Given the description of an element on the screen output the (x, y) to click on. 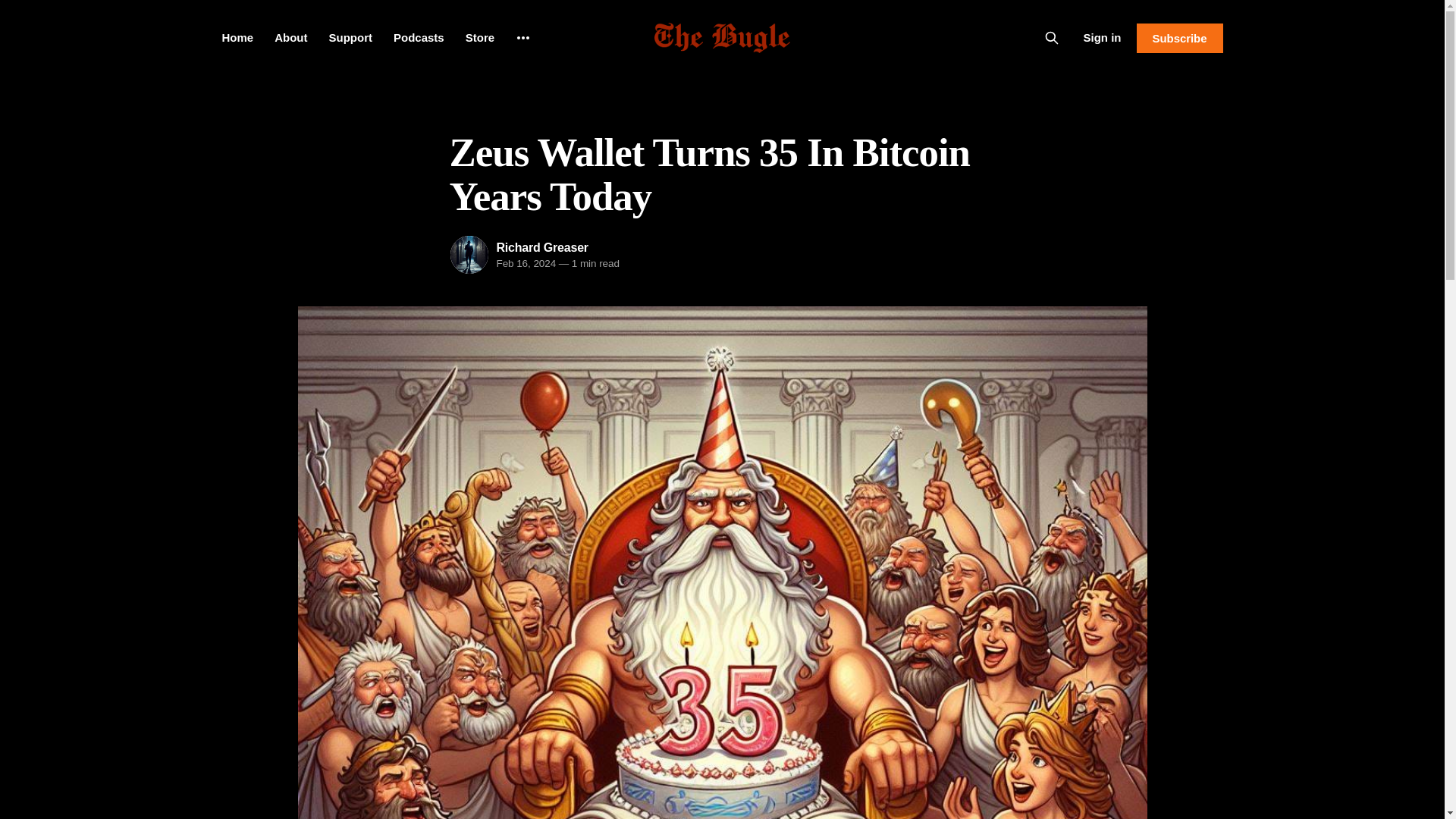
Store (480, 37)
About (291, 37)
Home (237, 37)
Subscribe (1179, 37)
Podcasts (418, 37)
Support (350, 37)
Sign in (1102, 37)
Richard Greaser (542, 246)
